Given the description of an element on the screen output the (x, y) to click on. 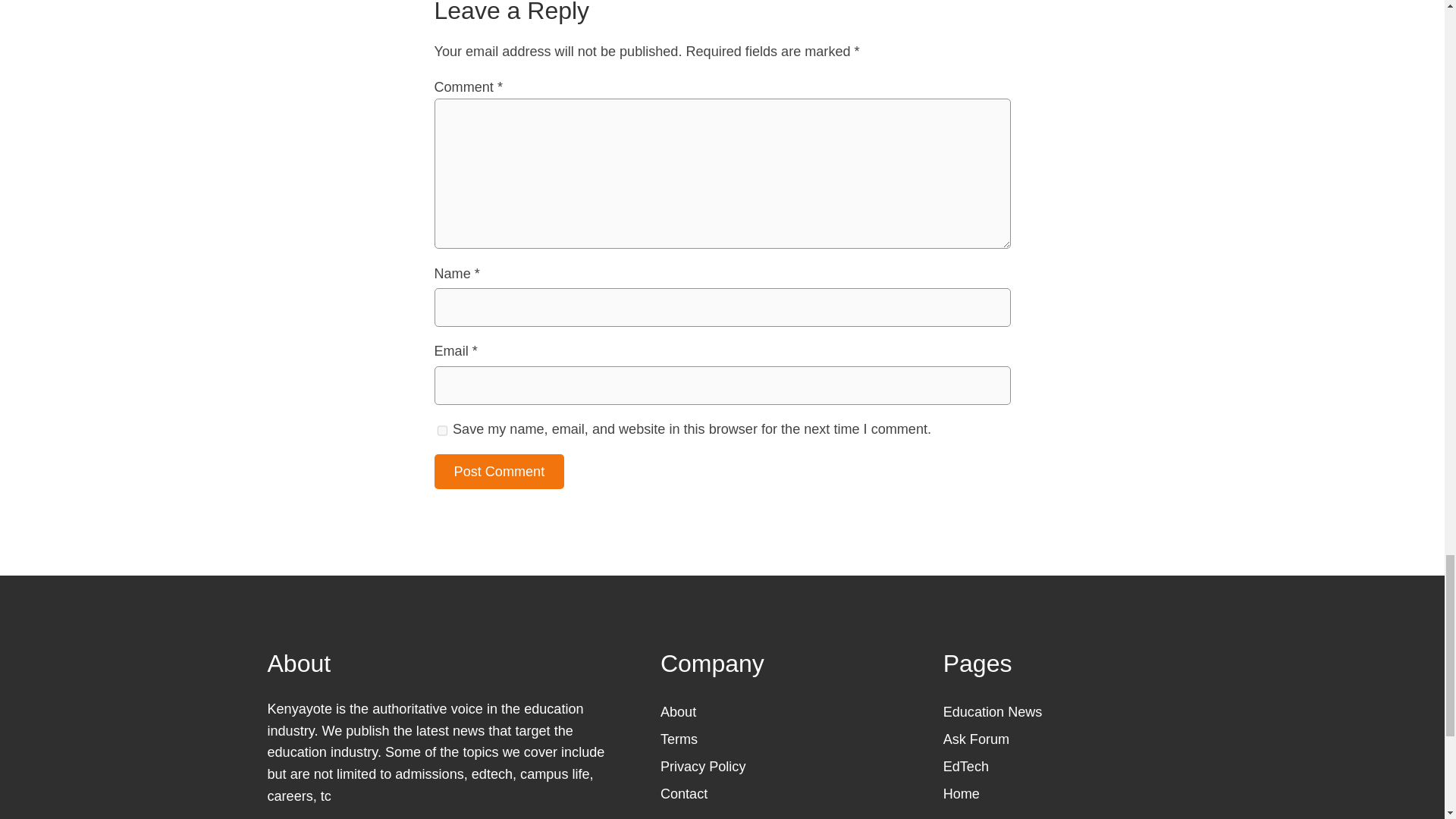
Home (961, 793)
Post Comment (498, 471)
Privacy Policy (703, 766)
Education News (992, 711)
Post Comment (498, 471)
About (678, 711)
Terms (679, 739)
Ask Forum (976, 739)
Contact (684, 793)
EdTech (965, 766)
